Given the description of an element on the screen output the (x, y) to click on. 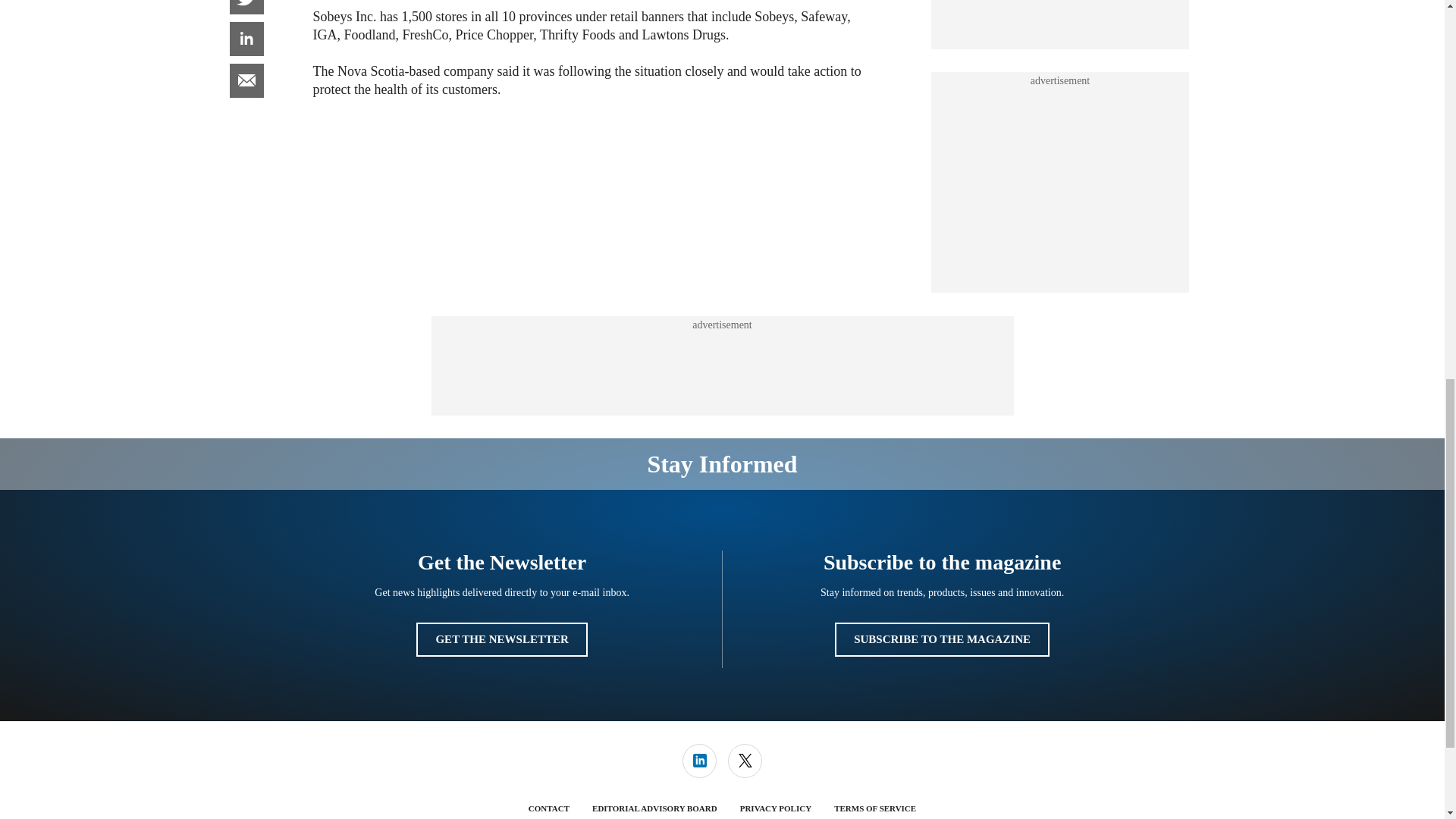
3rd party ad content (1059, 17)
3rd party ad content (1059, 182)
3rd party ad content (721, 366)
